Given the description of an element on the screen output the (x, y) to click on. 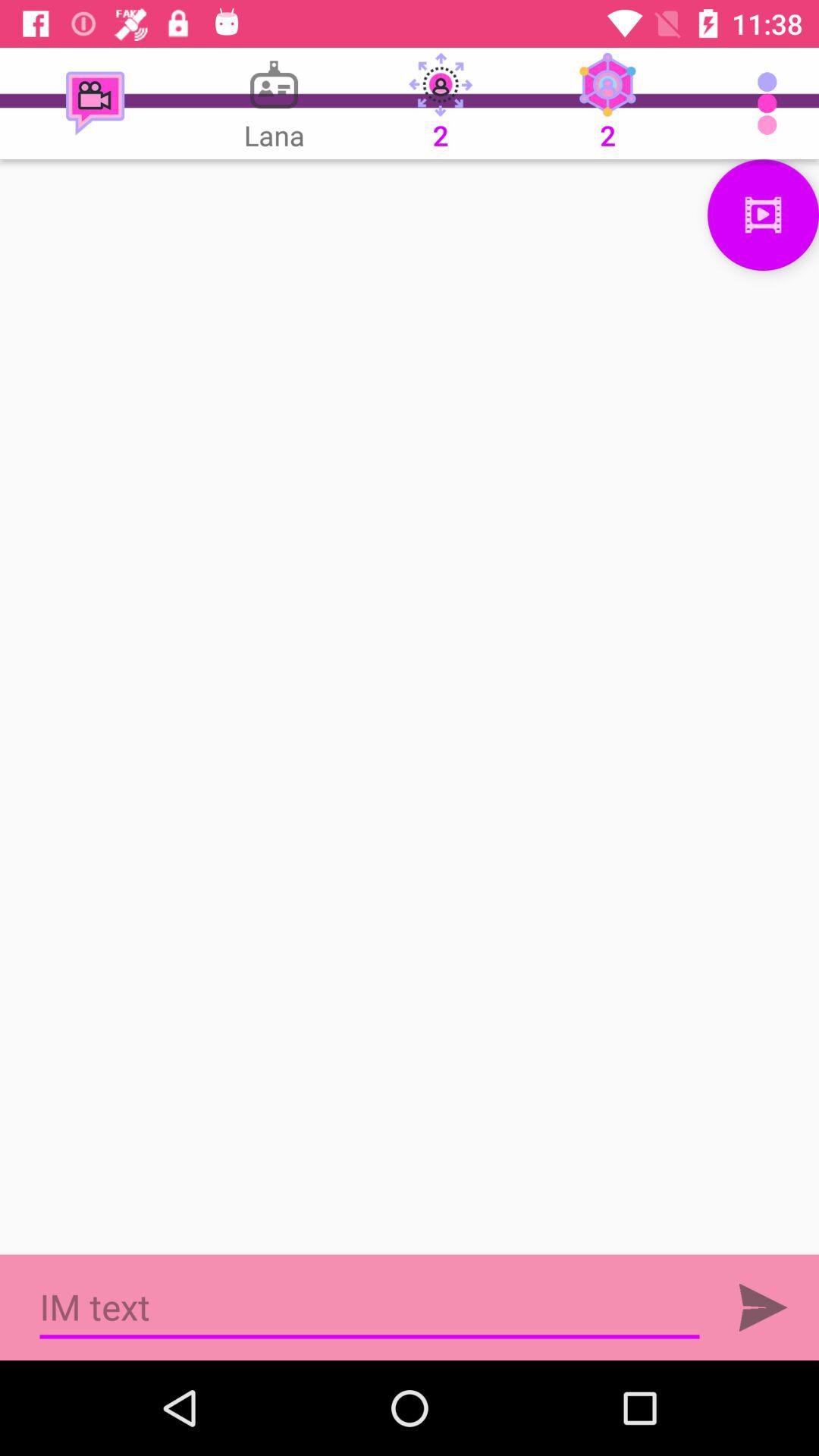
video play (763, 214)
